Given the description of an element on the screen output the (x, y) to click on. 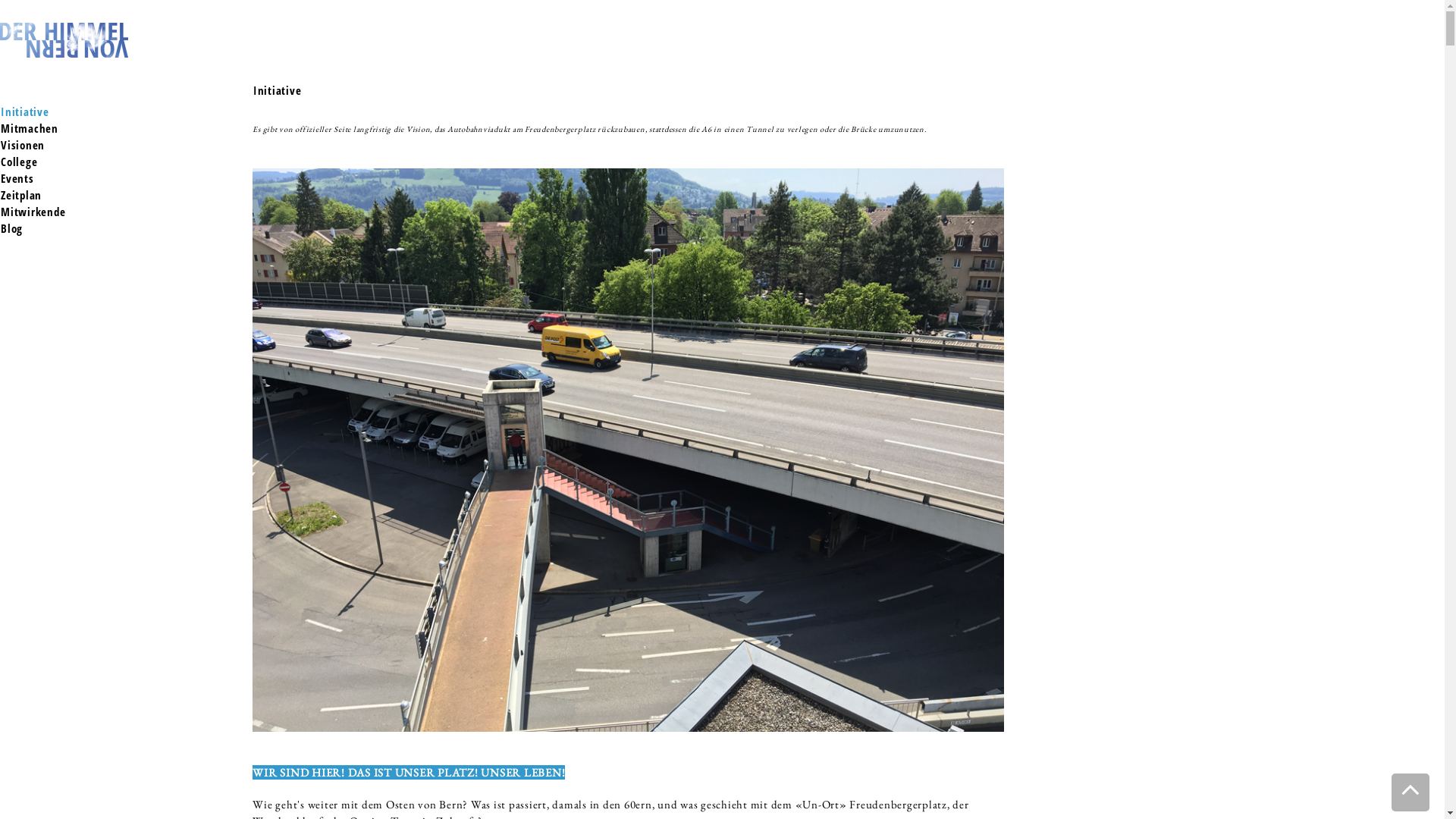
Events Element type: text (17, 177)
Initiative Element type: text (24, 111)
Visionen Element type: text (22, 144)
Blog Element type: text (11, 227)
Zeitplan Element type: text (20, 194)
Mitwirkende Element type: text (32, 211)
College Element type: text (18, 161)
Mitmachen Element type: text (29, 127)
